Given the description of an element on the screen output the (x, y) to click on. 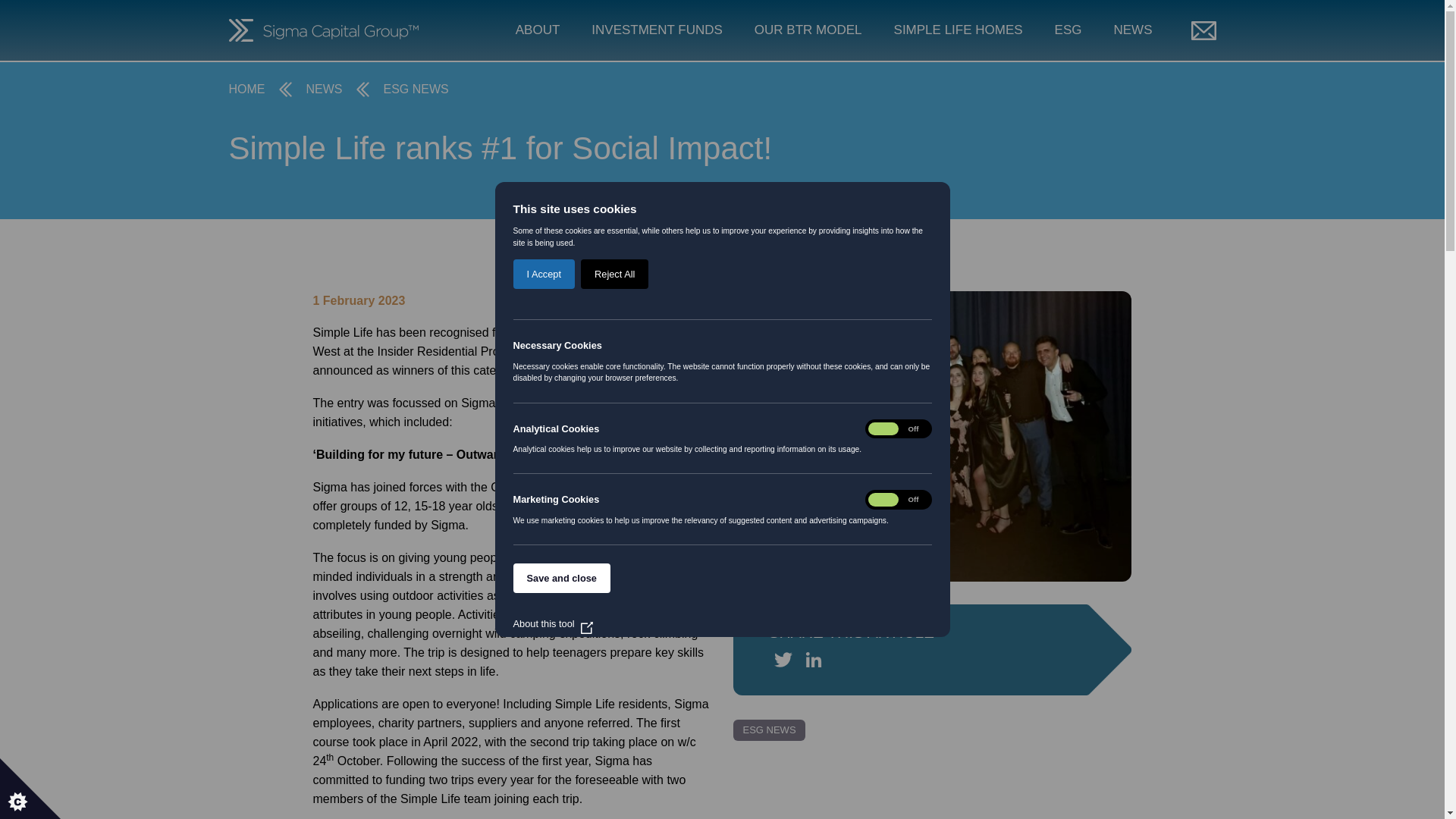
Investment Funds (656, 30)
OUR BTR MODEL (807, 30)
Our BTR Model (807, 30)
SIMPLE LIFE HOMES (958, 30)
Go to Sigma Capital. (246, 89)
Reject All (613, 686)
INVESTMENT FUNDS (656, 30)
Simple Life Homes (958, 30)
